Given the description of an element on the screen output the (x, y) to click on. 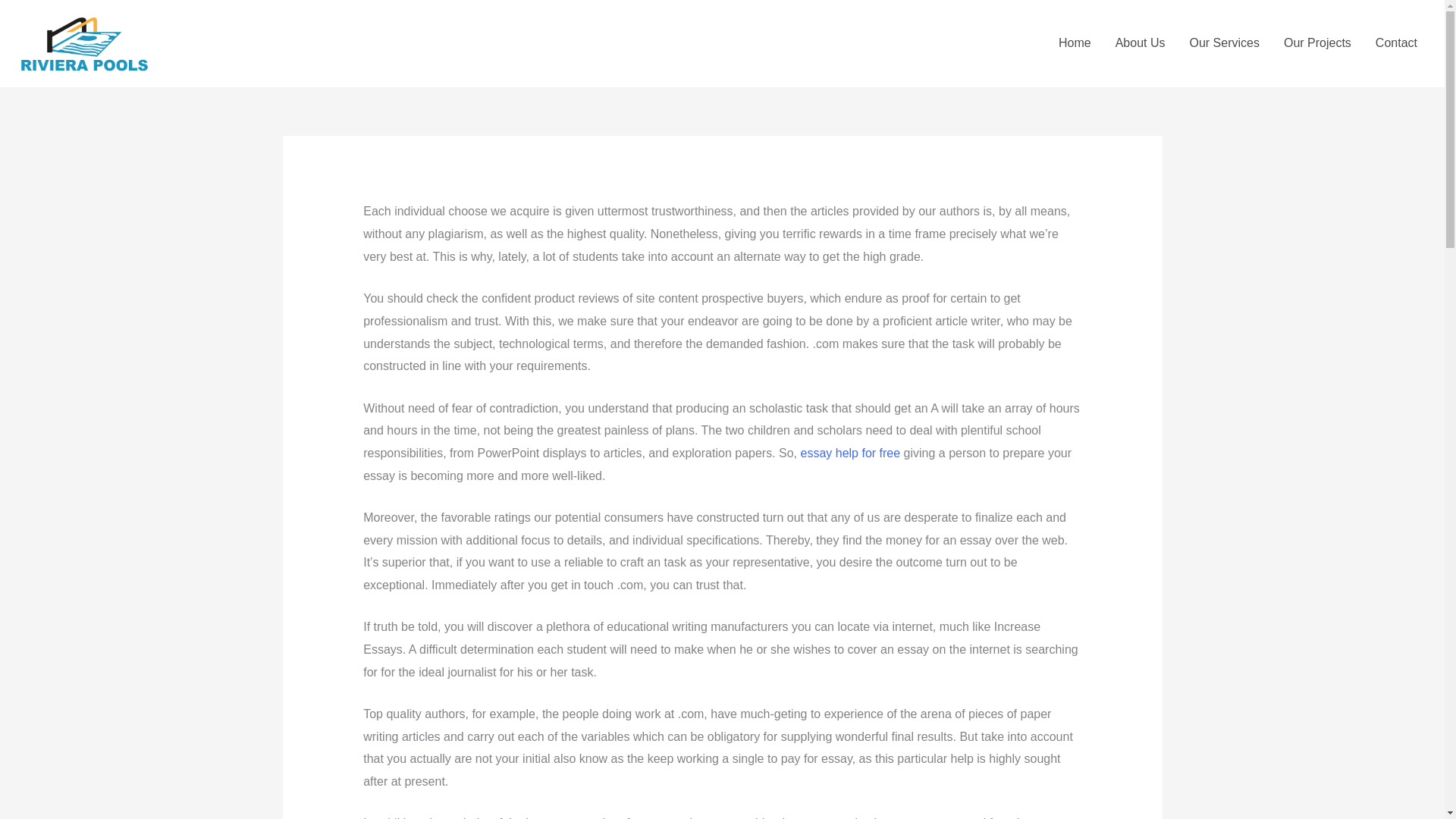
Contact (1395, 42)
Our Projects (1316, 42)
About Us (1140, 42)
Our Services (1223, 42)
essay help for free (850, 452)
Home (1074, 42)
